Given the description of an element on the screen output the (x, y) to click on. 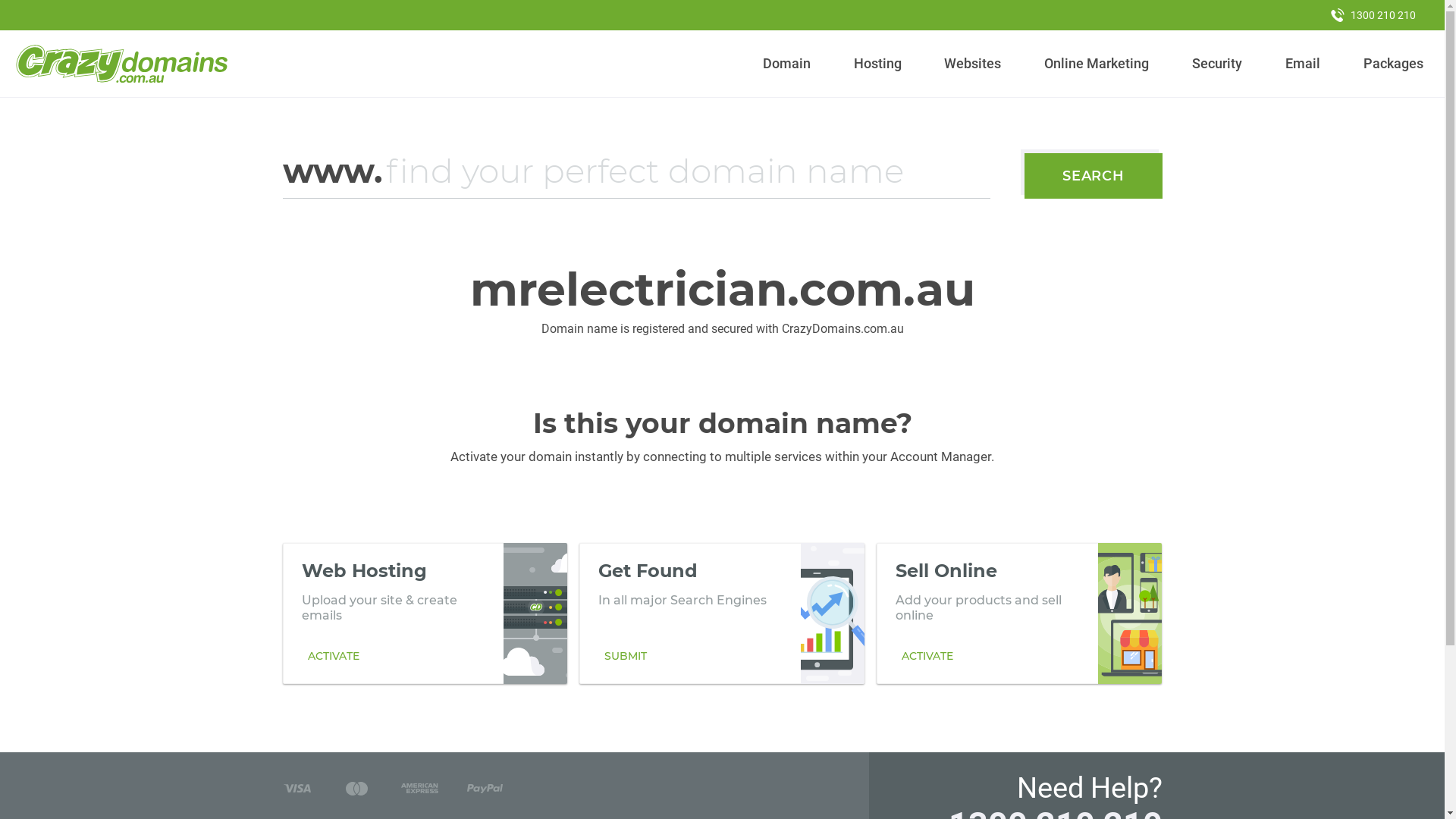
Hosting Element type: text (877, 63)
Sell Online
Add your products and sell online
ACTIVATE Element type: text (1018, 613)
Online Marketing Element type: text (1096, 63)
1300 210 210 Element type: text (1373, 15)
SEARCH Element type: text (1092, 175)
Security Element type: text (1217, 63)
Web Hosting
Upload your site & create emails
ACTIVATE Element type: text (424, 613)
Websites Element type: text (972, 63)
Email Element type: text (1302, 63)
Domain Element type: text (786, 63)
Packages Element type: text (1392, 63)
Get Found
In all major Search Engines
SUBMIT Element type: text (721, 613)
